Given the description of an element on the screen output the (x, y) to click on. 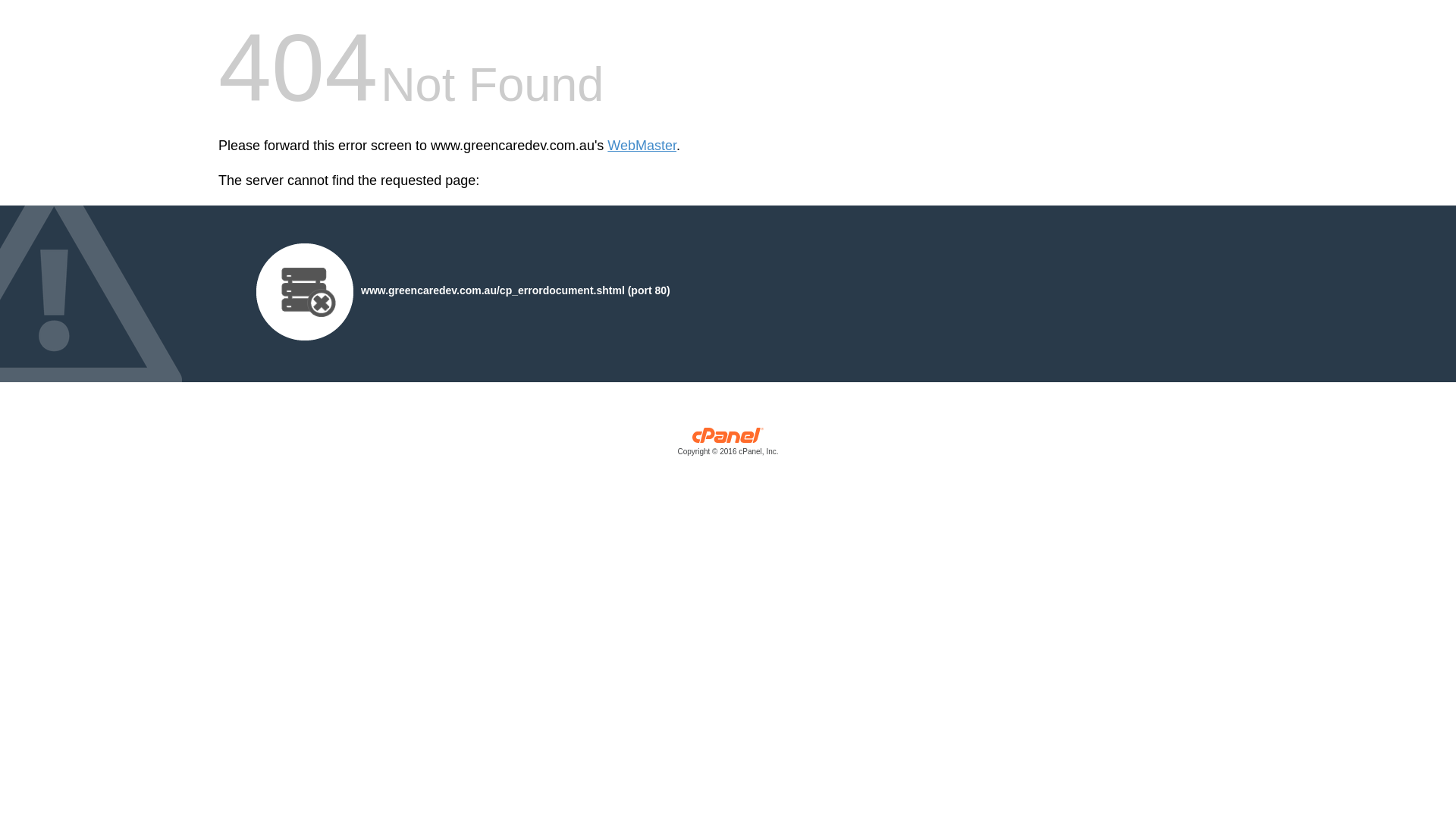
WebMaster Element type: text (641, 145)
